Given the description of an element on the screen output the (x, y) to click on. 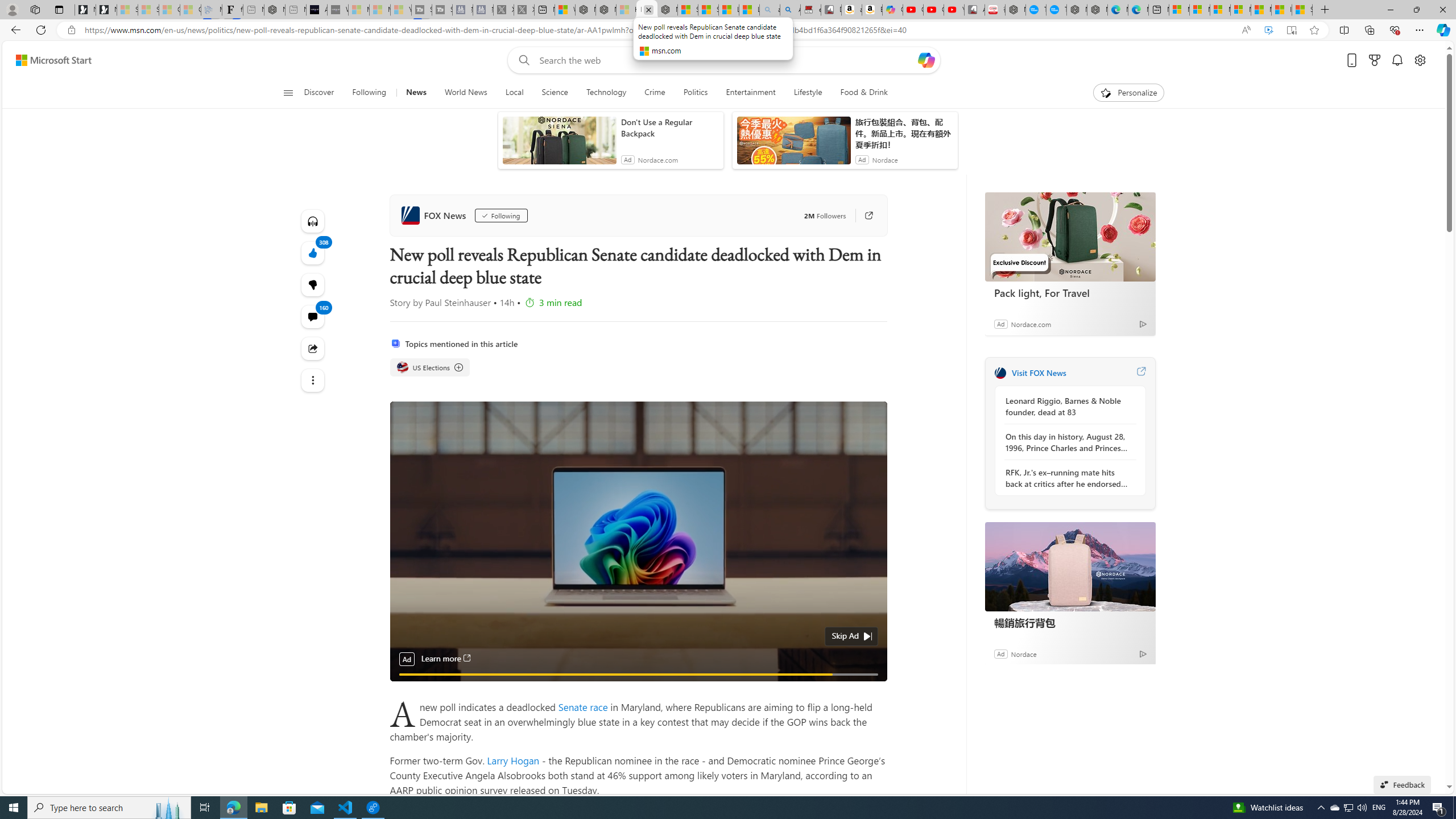
World News (465, 92)
View comments 160 Comment (312, 316)
308 Like (312, 252)
FOX News (1000, 372)
Food & Drink (859, 92)
Copilot (892, 9)
Amazon Echo Dot PNG - Search Images (789, 9)
